Given the description of an element on the screen output the (x, y) to click on. 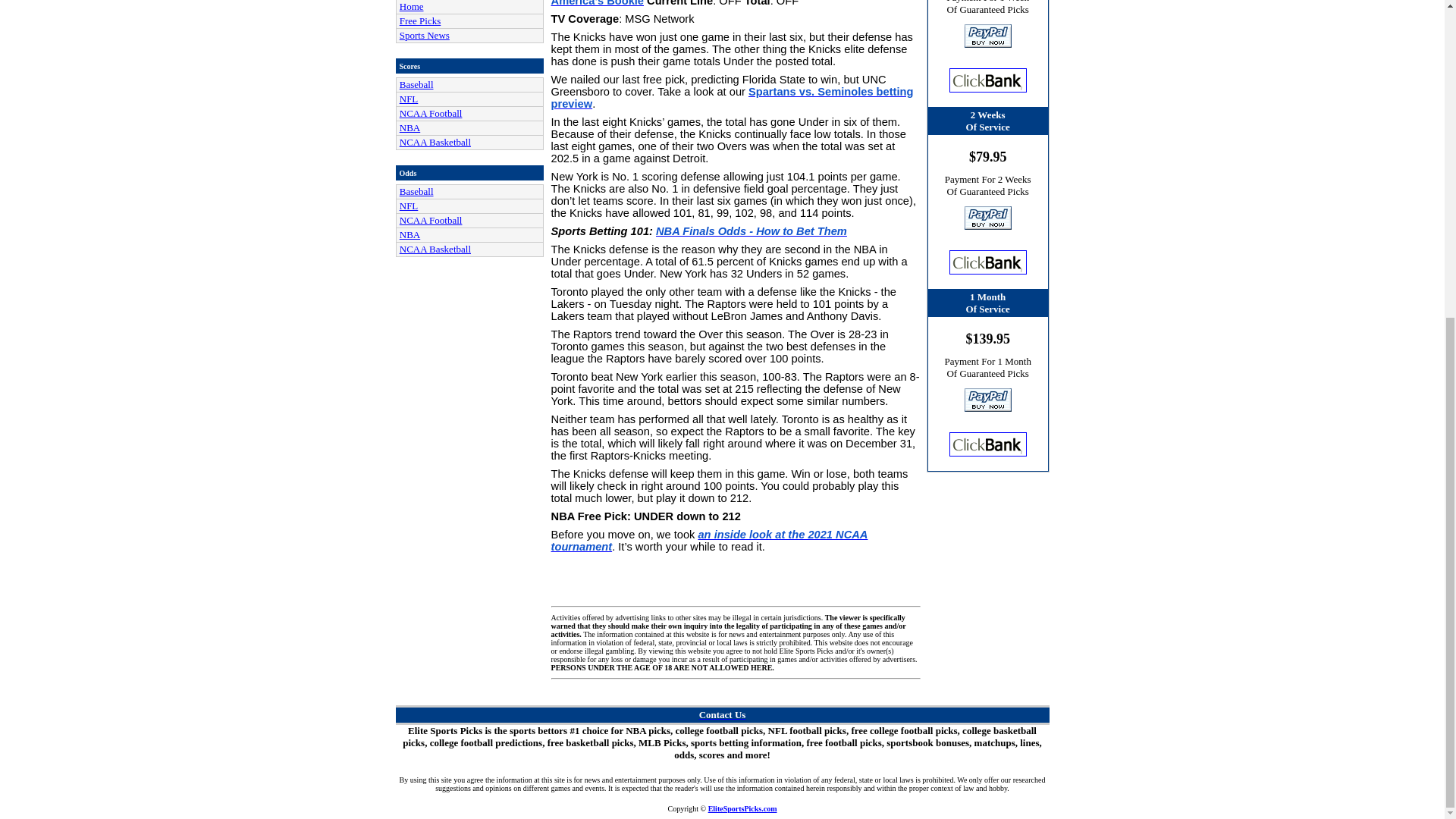
NBA Finals Odds - How to Bet Them (751, 230)
NCAA Football (430, 112)
NFL (408, 205)
NCAA Basketball (434, 142)
Baseball (415, 191)
Sports News (423, 34)
NFL (408, 98)
an inside look at the 2021 NCAA tournament (709, 539)
NCAA Football (430, 220)
EliteSportsPicks.com (742, 808)
NCAA Basketball (434, 248)
Baseball (415, 84)
Contact Us (721, 714)
Spartans vs. Seminoles betting preview (732, 97)
NBA (409, 127)
